Given the description of an element on the screen output the (x, y) to click on. 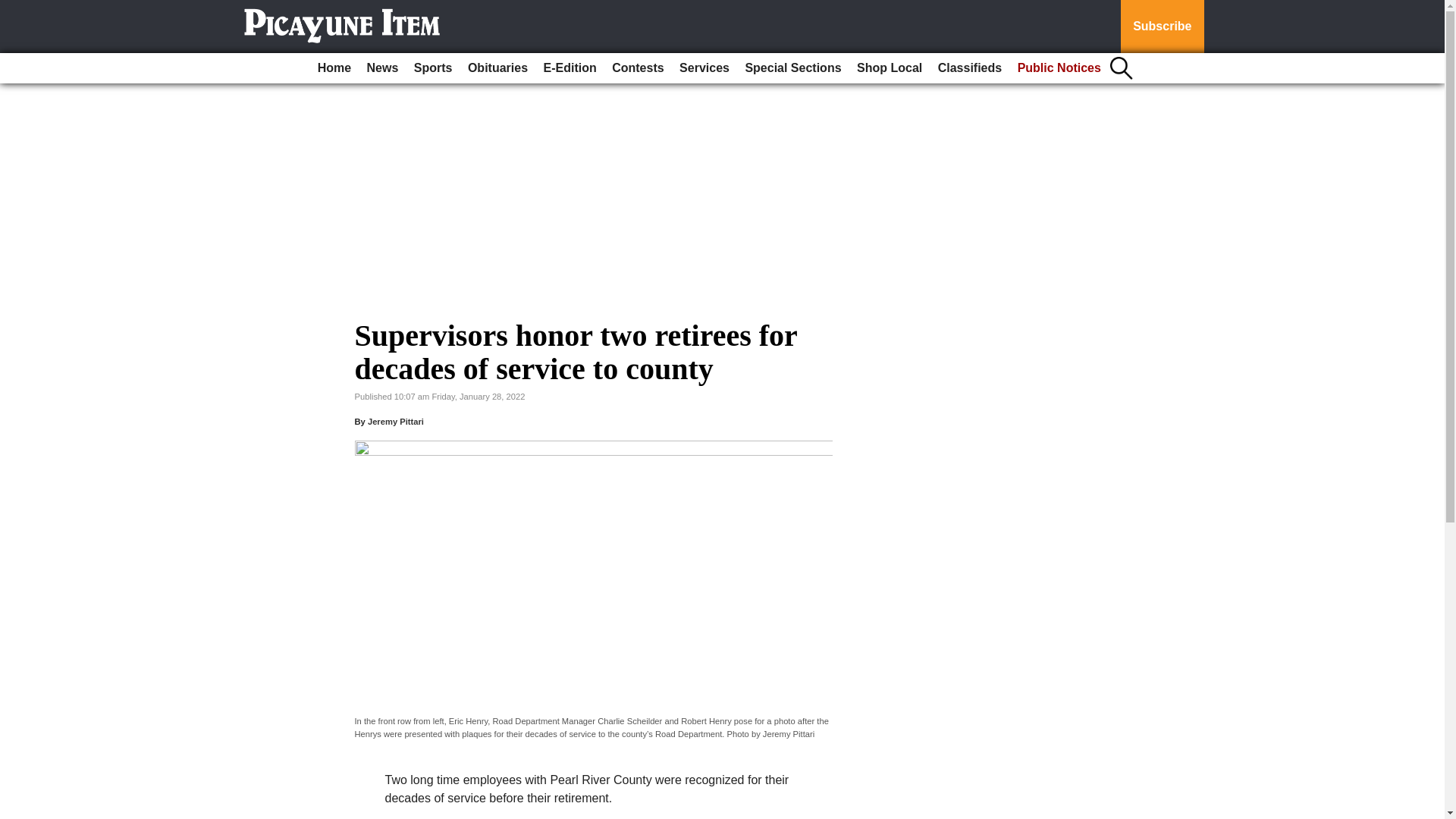
Shop Local (889, 68)
E-Edition (569, 68)
Go (13, 9)
Home (333, 68)
Contests (637, 68)
Obituaries (497, 68)
Special Sections (792, 68)
Sports (432, 68)
Services (703, 68)
Public Notices (1058, 68)
Jeremy Pittari (395, 420)
Classifieds (969, 68)
Subscribe (1162, 26)
News (382, 68)
